Given the description of an element on the screen output the (x, y) to click on. 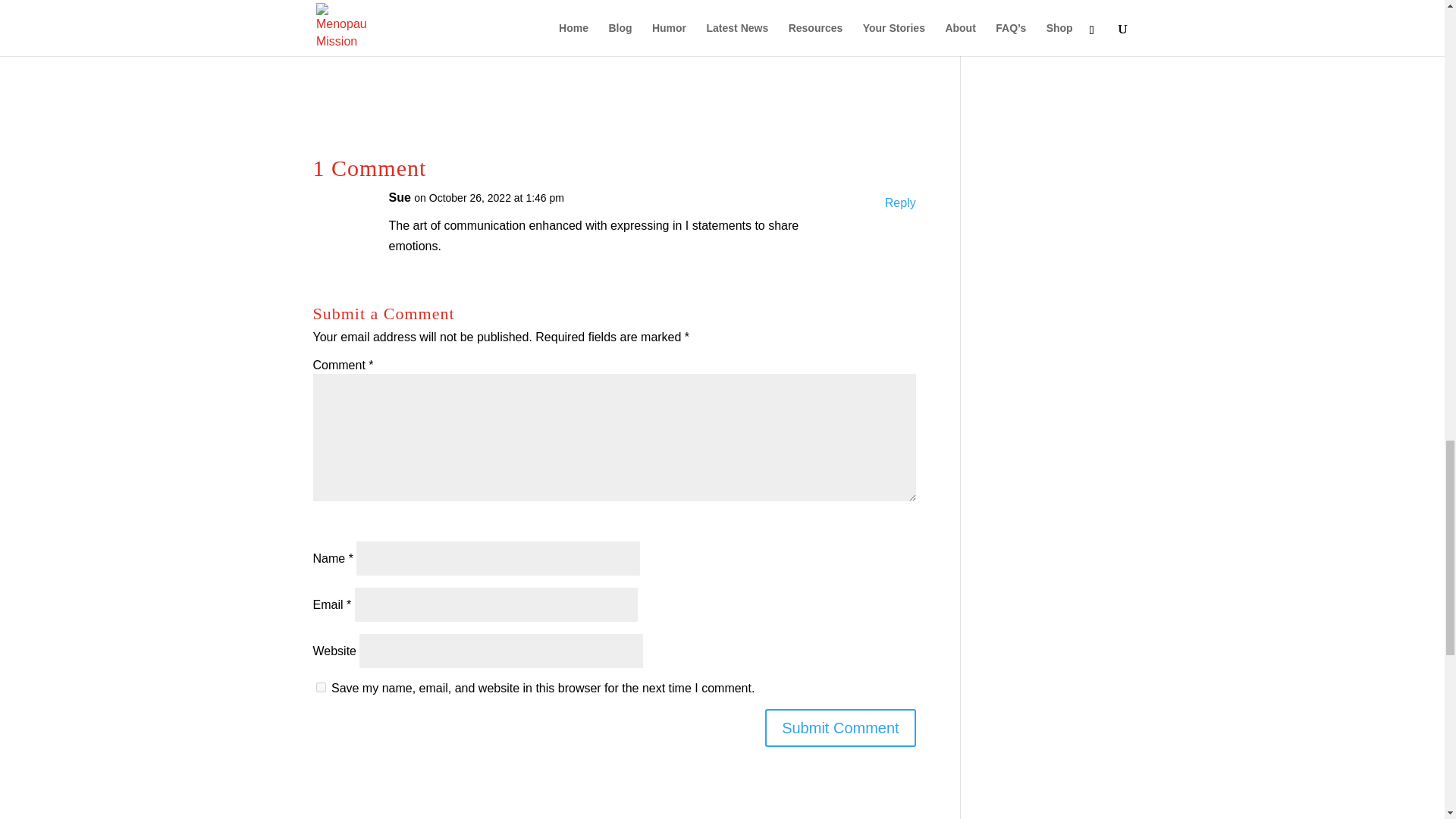
Submit Comment (840, 727)
Submit Comment (840, 727)
Reply (900, 202)
yes (319, 687)
